Given the description of an element on the screen output the (x, y) to click on. 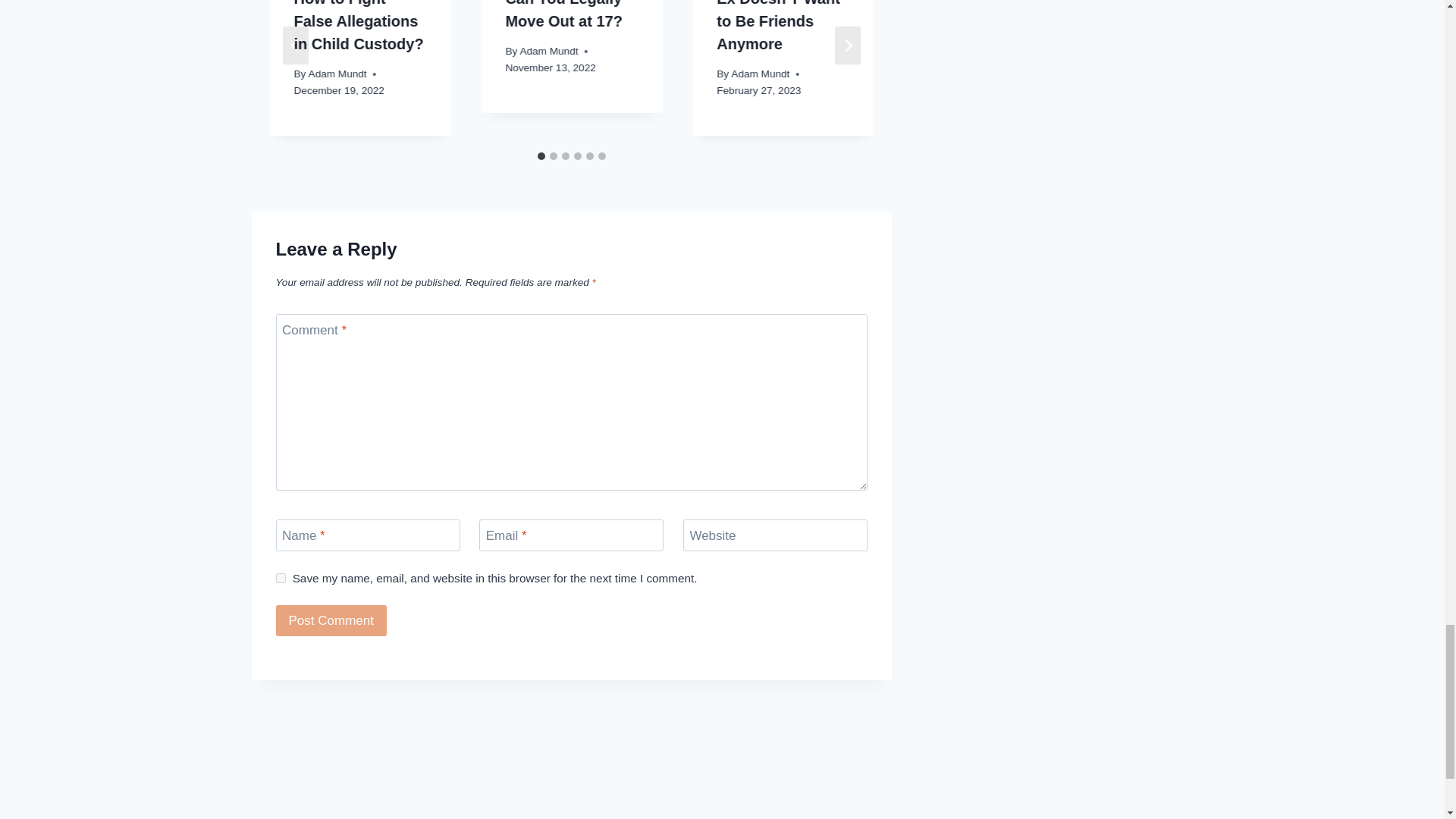
Post Comment (331, 620)
yes (280, 578)
